Given the description of an element on the screen output the (x, y) to click on. 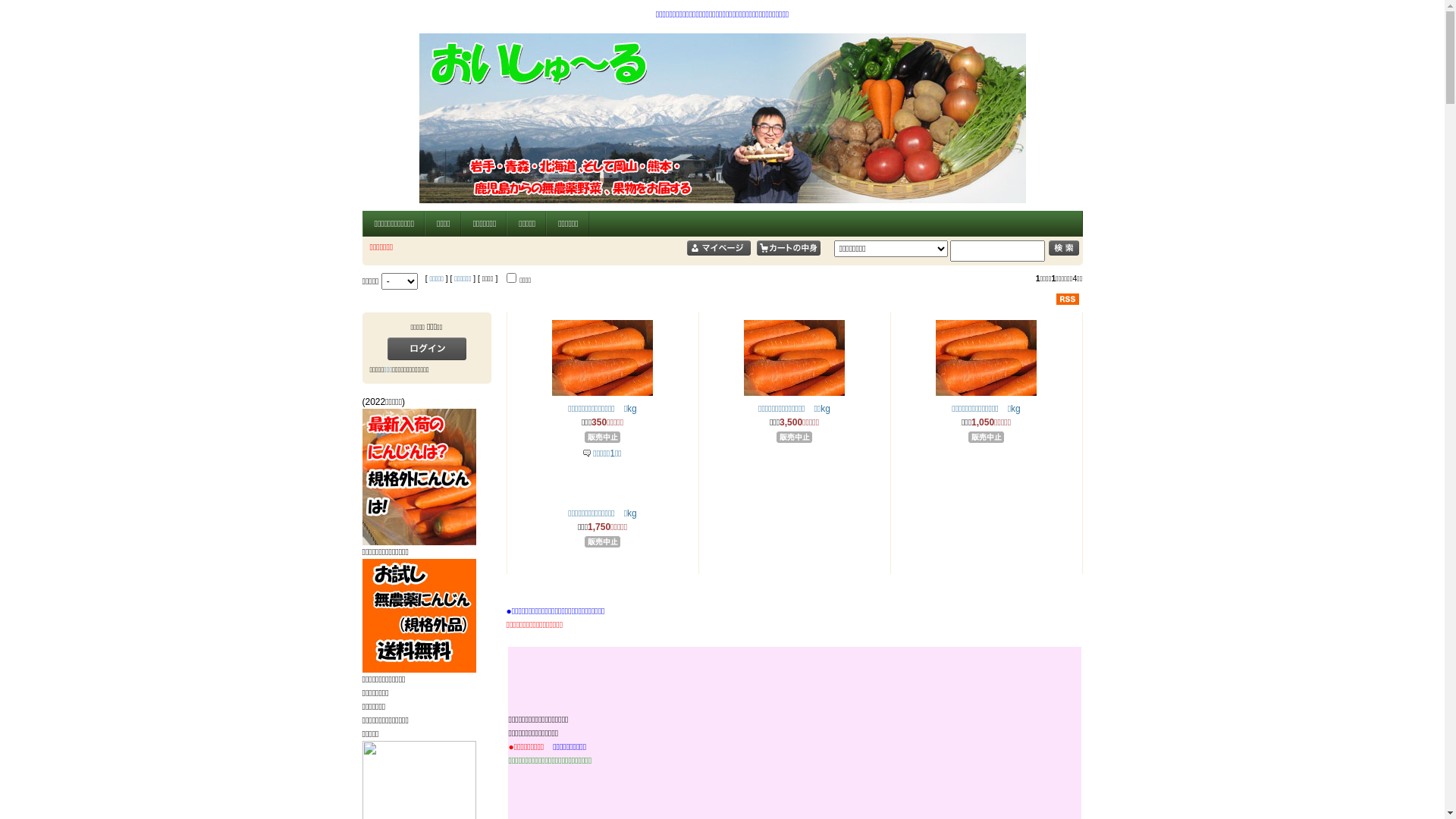
1 Element type: text (511, 277)
